Given the description of an element on the screen output the (x, y) to click on. 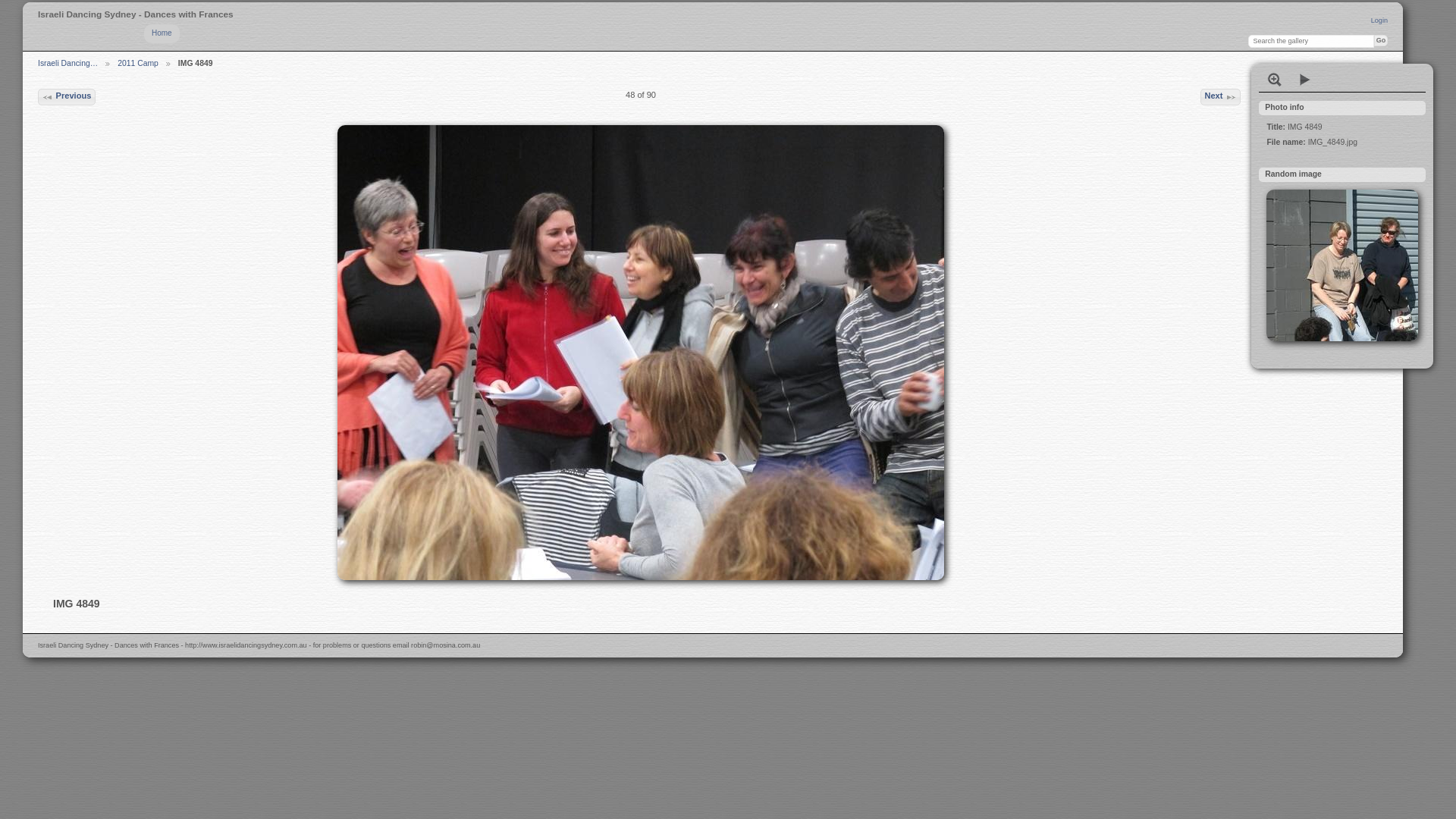
Previous Element type: text (66, 96)
View full size Element type: hover (640, 352)
Go Element type: text (1380, 40)
Home Element type: text (161, 33)
2011 Camp Element type: text (137, 64)
View slideshow Element type: text (1304, 79)
View full size Element type: text (1274, 79)
Next Element type: text (1220, 96)
Login Element type: text (1379, 20)
